Given the description of an element on the screen output the (x, y) to click on. 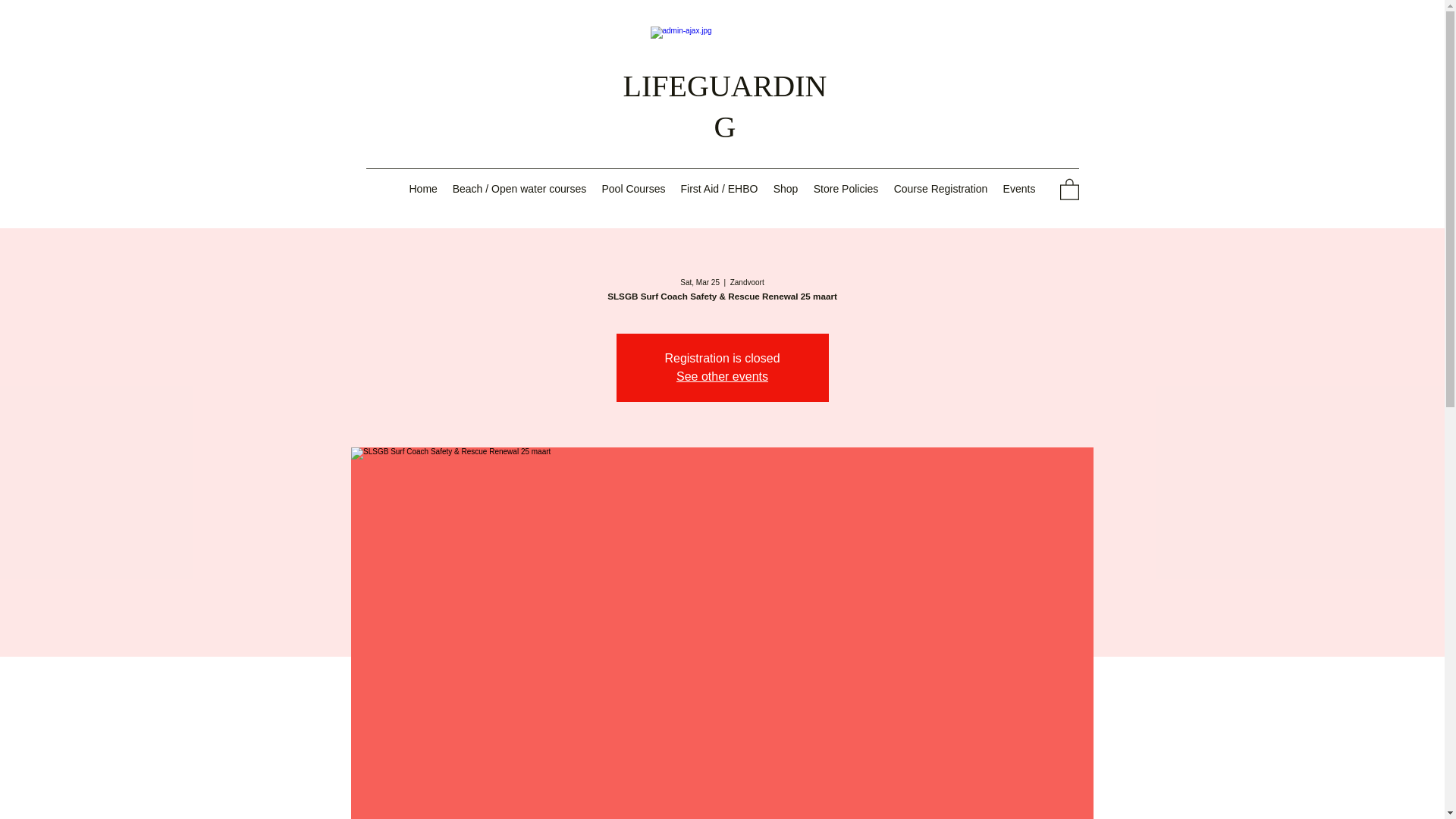
LIFEGUARDING (725, 106)
Pool Courses (633, 188)
Store Policies (845, 188)
Course Registration (939, 188)
Shop (785, 188)
Events (1018, 188)
See other events (722, 376)
Home (423, 188)
